Given the description of an element on the screen output the (x, y) to click on. 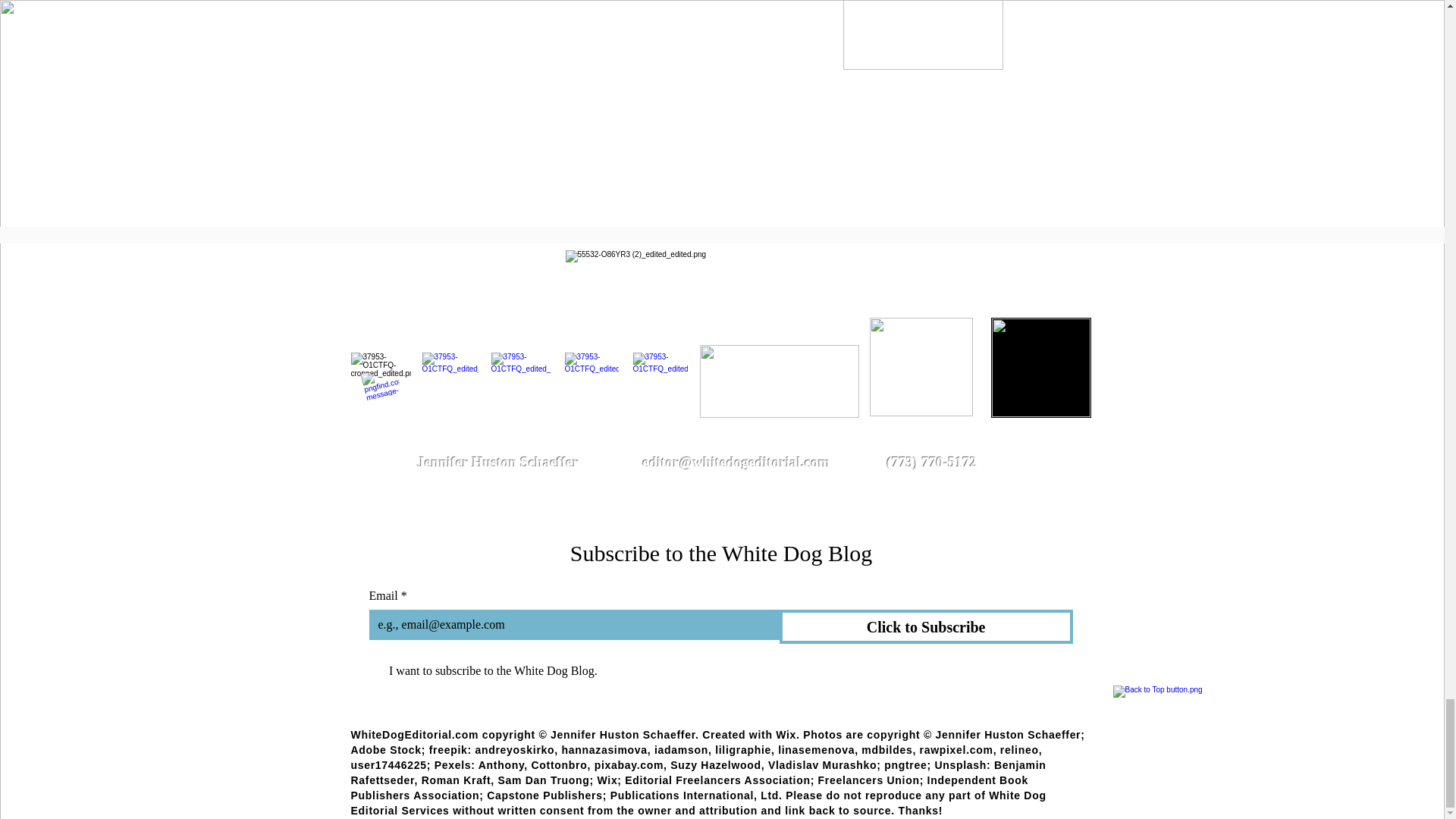
IBPA-Publishing Standards Matter logo.jpg (1040, 367)
EFA-Member-185x85-Transparent.png (778, 380)
FreelancersUnion member badge.png (920, 366)
Publishing (978, 139)
